Given the description of an element on the screen output the (x, y) to click on. 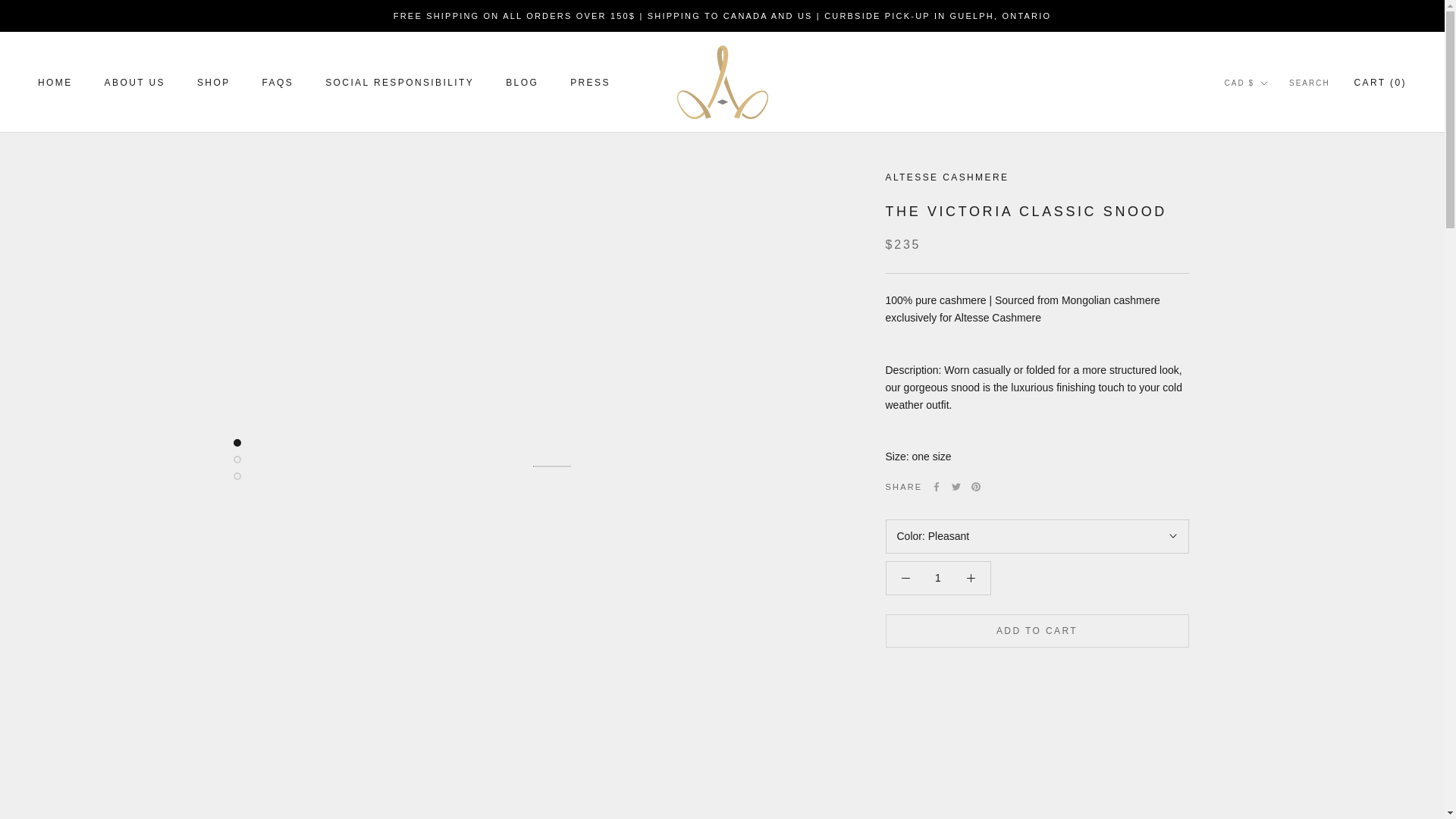
SHOP (521, 81)
FAQS (213, 81)
1 (399, 81)
